Given the description of an element on the screen output the (x, y) to click on. 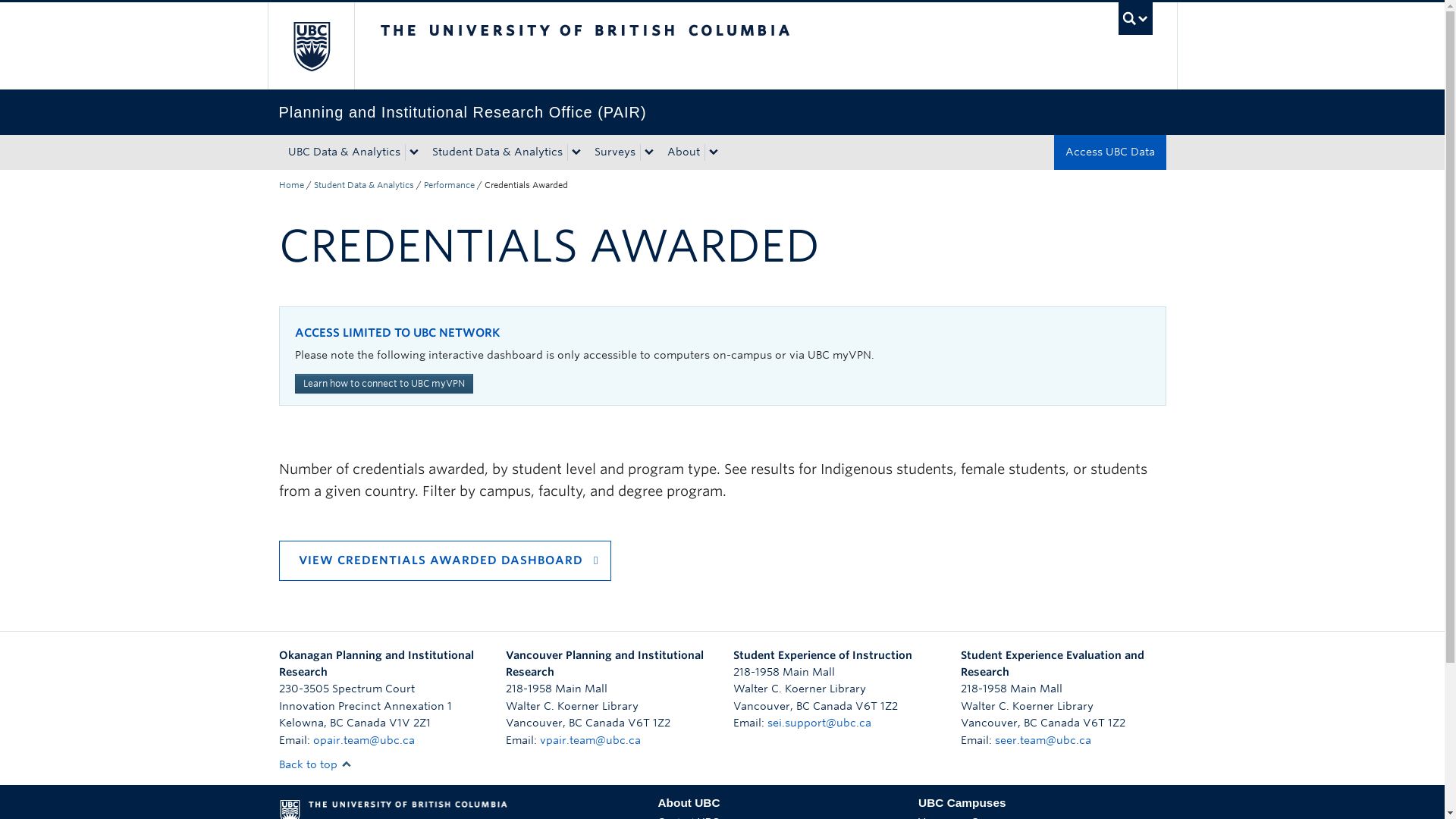
The University of British Columbia (309, 45)
Performance (448, 184)
Back to top (315, 764)
Surveys (612, 151)
The University of British Columbia (635, 45)
UBC Search (1135, 18)
